Given the description of an element on the screen output the (x, y) to click on. 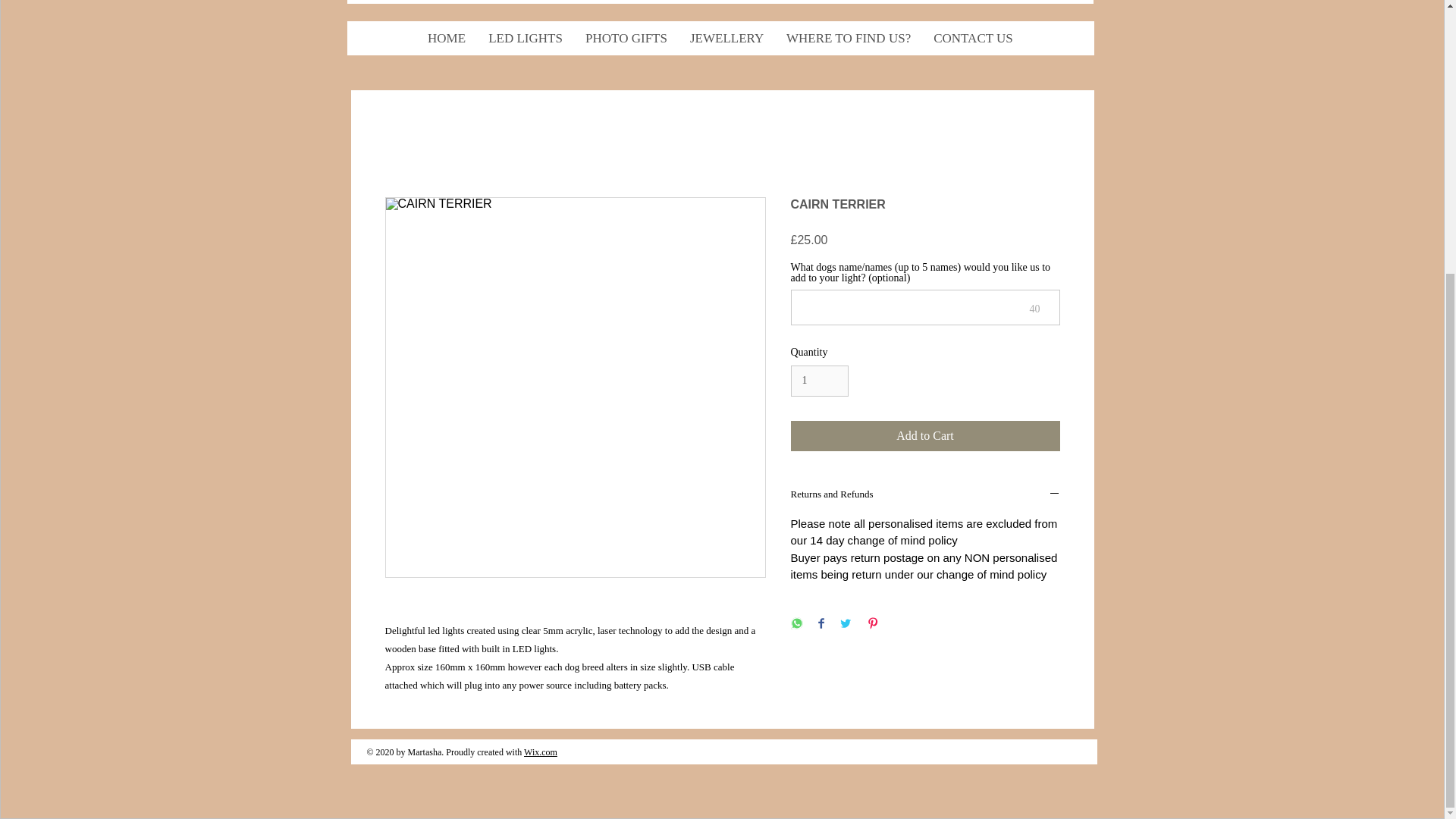
1 (818, 380)
Returns and Refunds (924, 494)
Wix.com (540, 751)
Add to Cart (924, 435)
HOME (446, 38)
WHERE TO FIND US? (847, 38)
CONTACT US (973, 38)
